Given the description of an element on the screen output the (x, y) to click on. 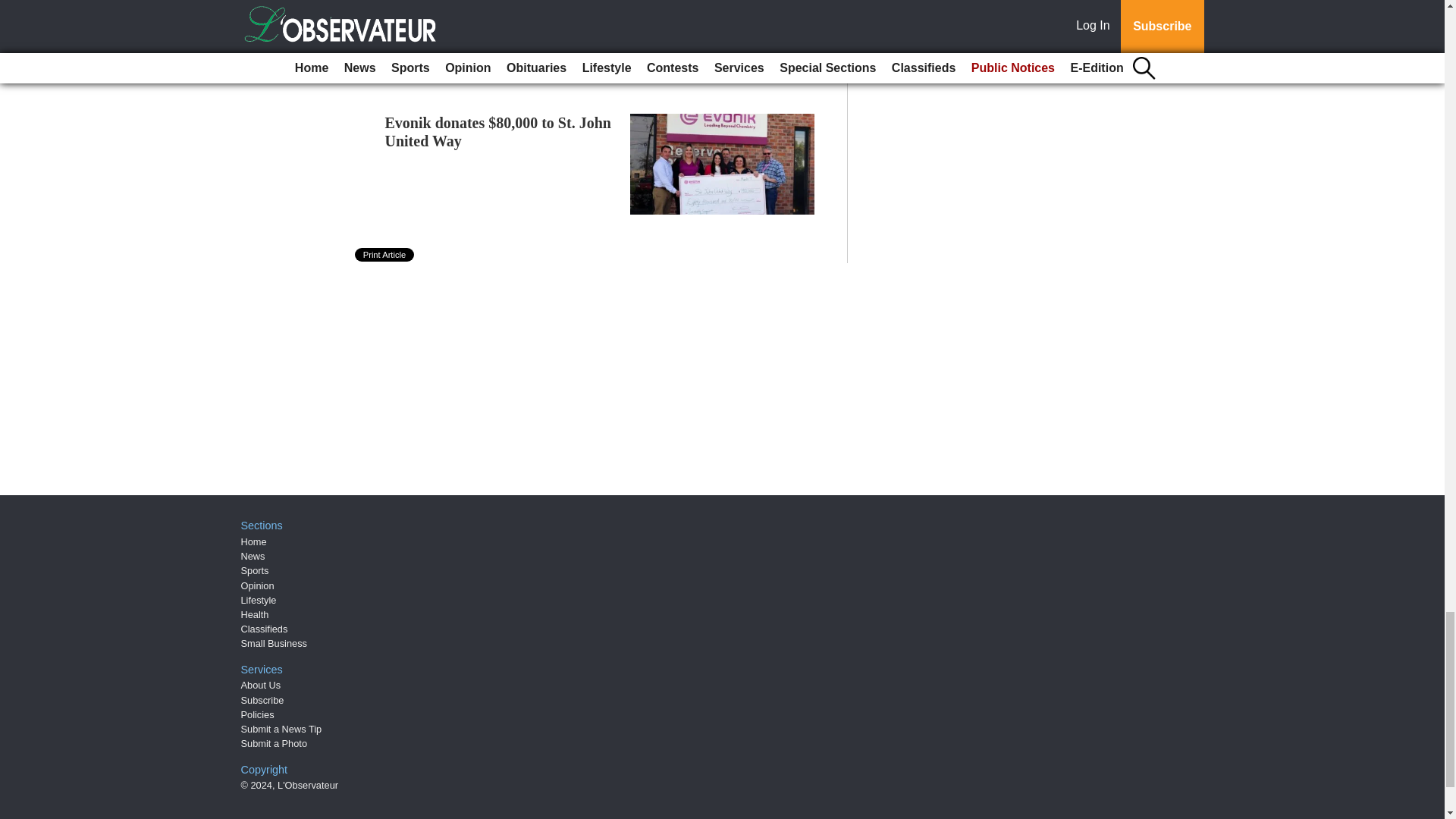
Print Article (384, 254)
